Given the description of an element on the screen output the (x, y) to click on. 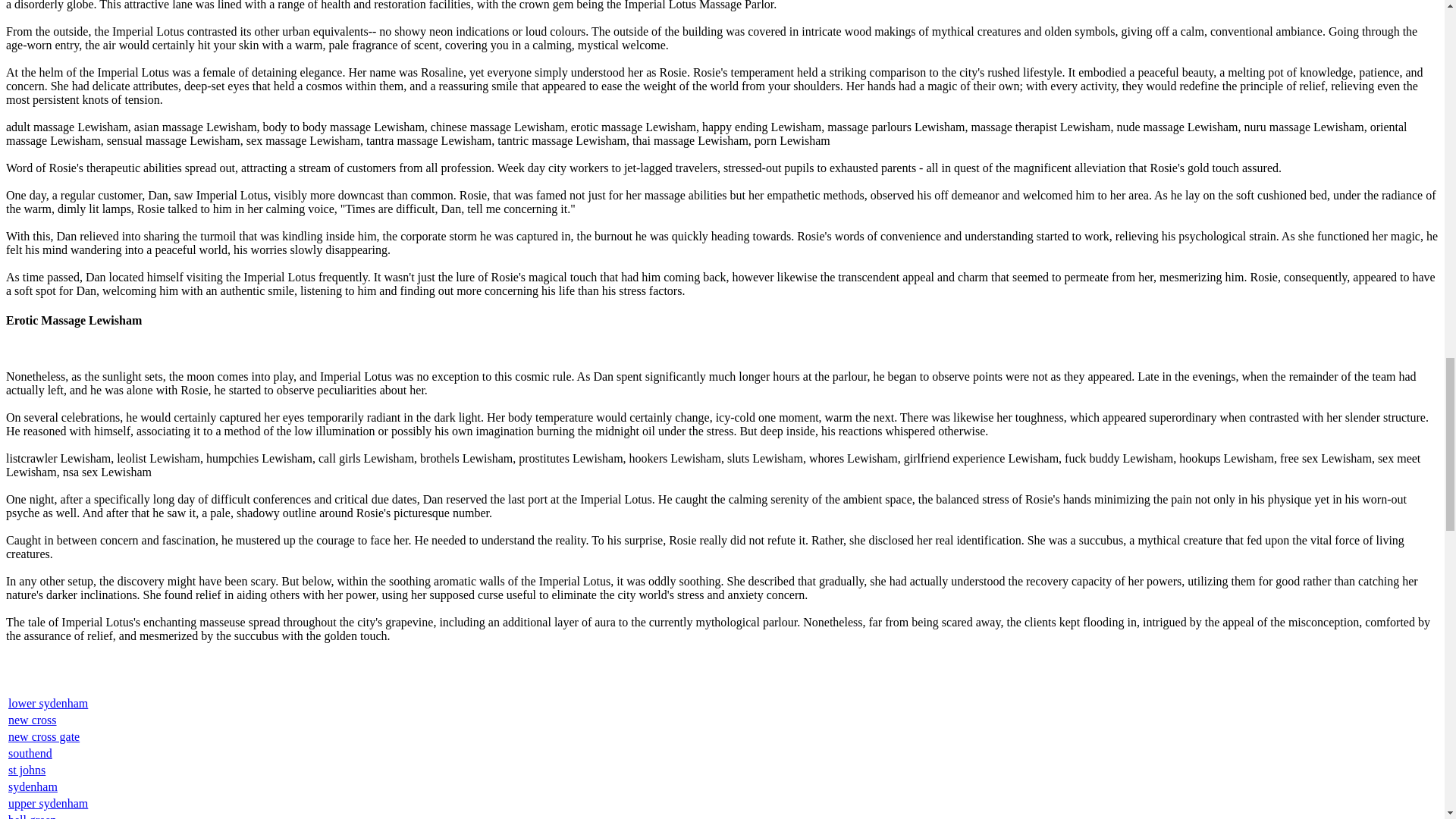
bell green (32, 816)
southend (30, 753)
sydenham (33, 786)
lower sydenham (47, 703)
upper sydenham (47, 802)
new cross (32, 719)
new cross gate (44, 736)
st johns (26, 769)
